Given the description of an element on the screen output the (x, y) to click on. 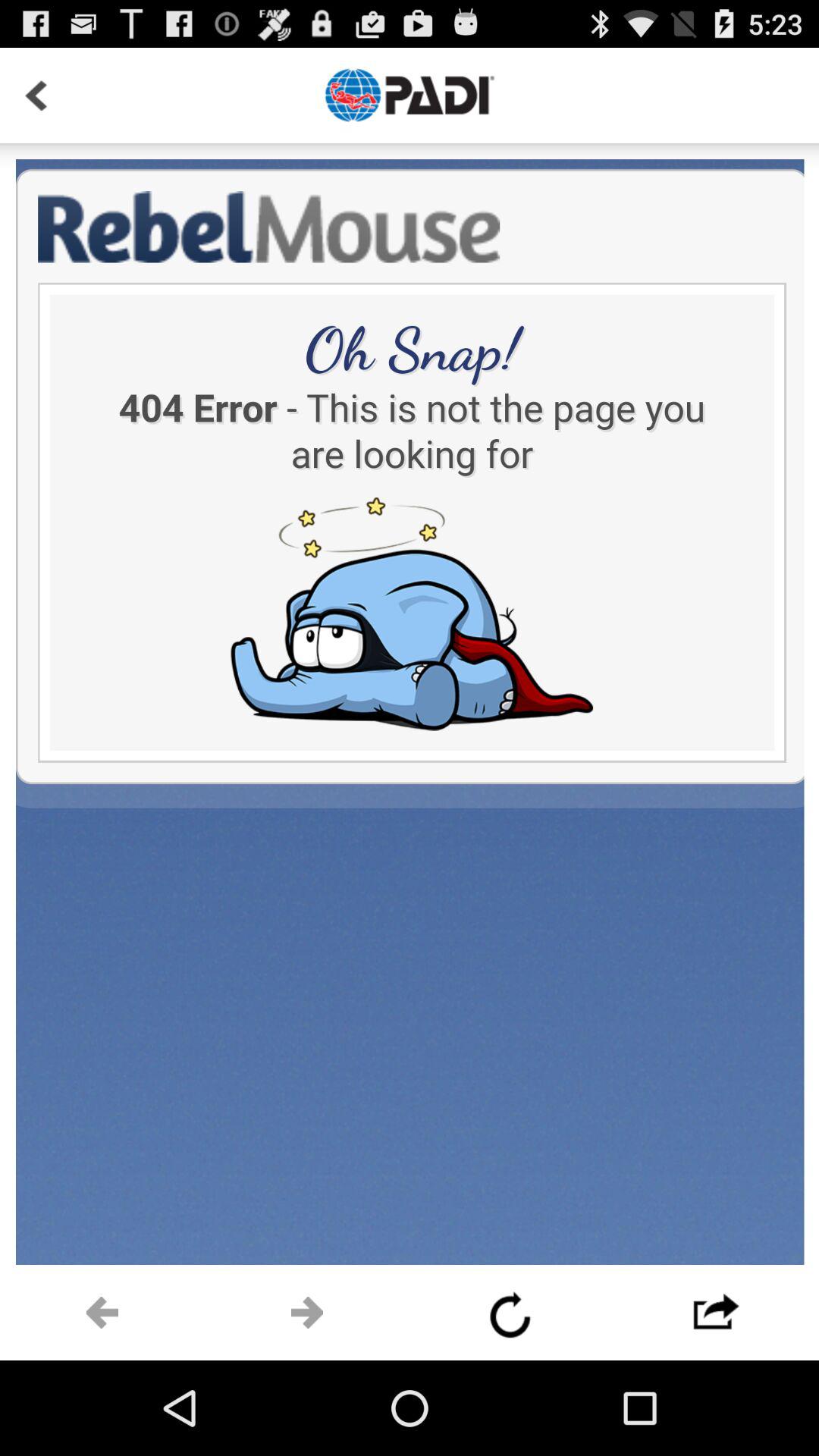
go to back (35, 95)
